Given the description of an element on the screen output the (x, y) to click on. 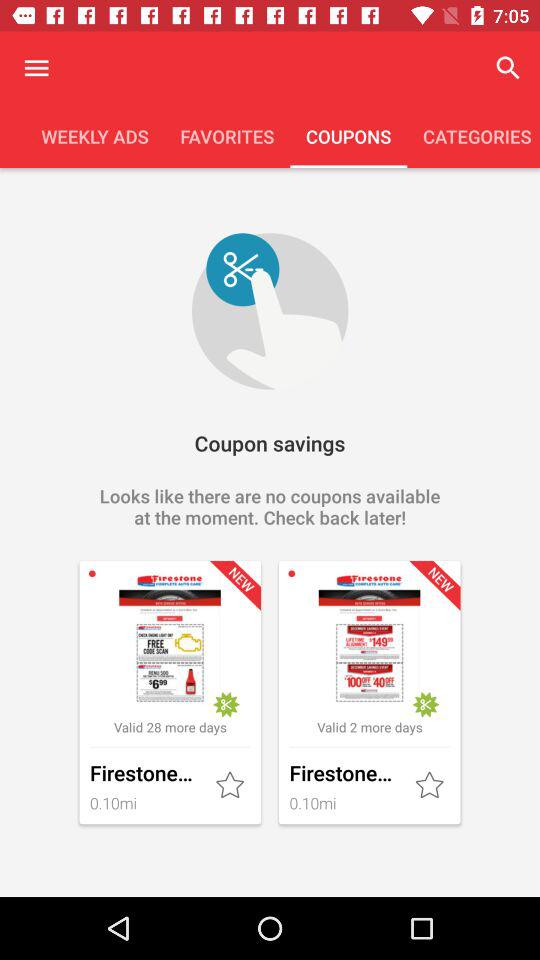
save coupon as a favorite (431, 786)
